Given the description of an element on the screen output the (x, y) to click on. 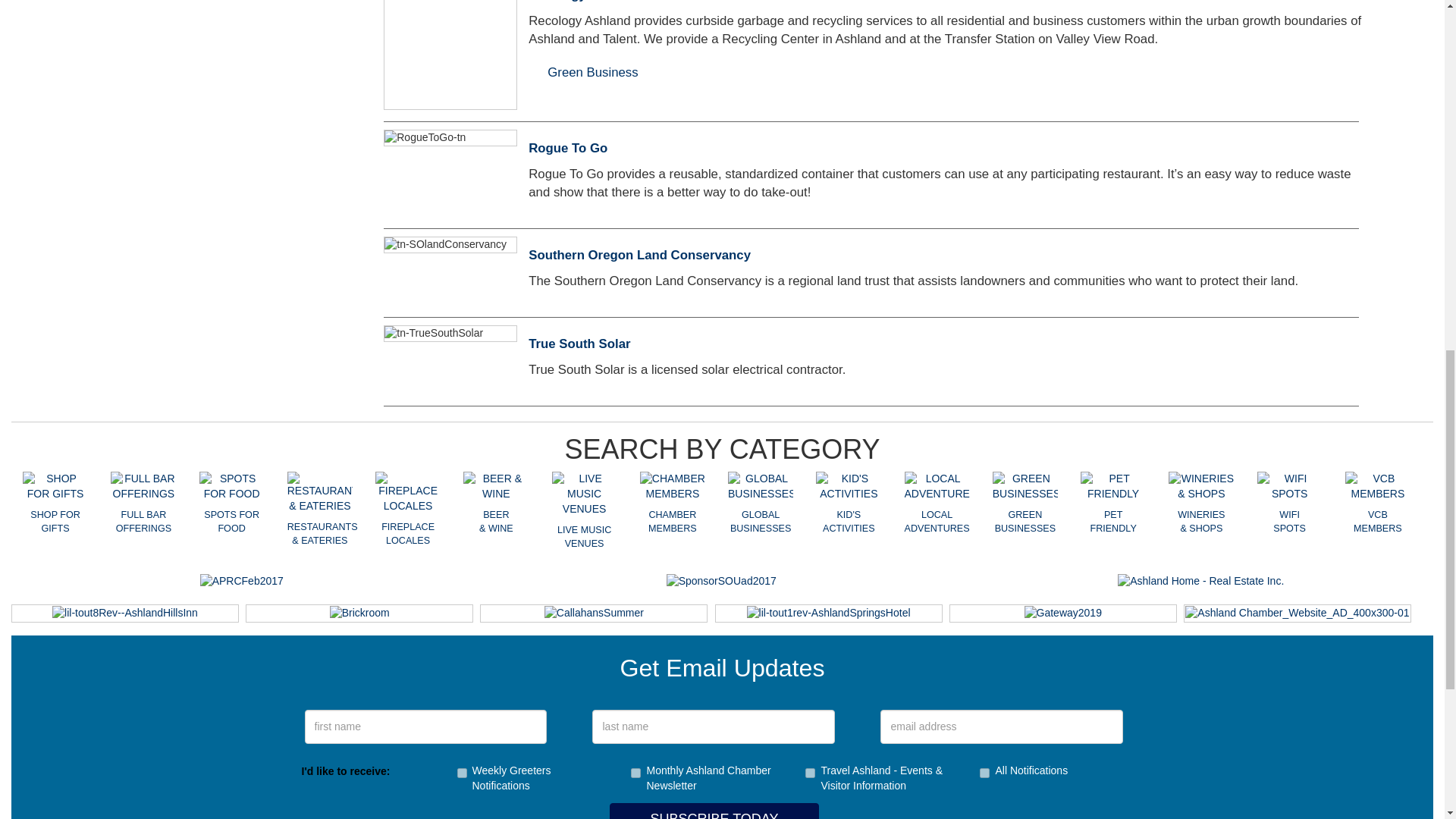
2 (461, 773)
LIVE MUSIC VENUES (584, 493)
FULL BAR OFFERINGS (143, 486)
GLOBAL BUSINESSES (760, 486)
KID'S ACTIVITIES (847, 486)
SPOTS FOR FOOD (230, 486)
WIFI SPOTS (1289, 486)
FIREPLACE LOCALES (408, 492)
LOCAL ADVENTURE (936, 486)
VCB MEMBERS (1377, 486)
